Given the description of an element on the screen output the (x, y) to click on. 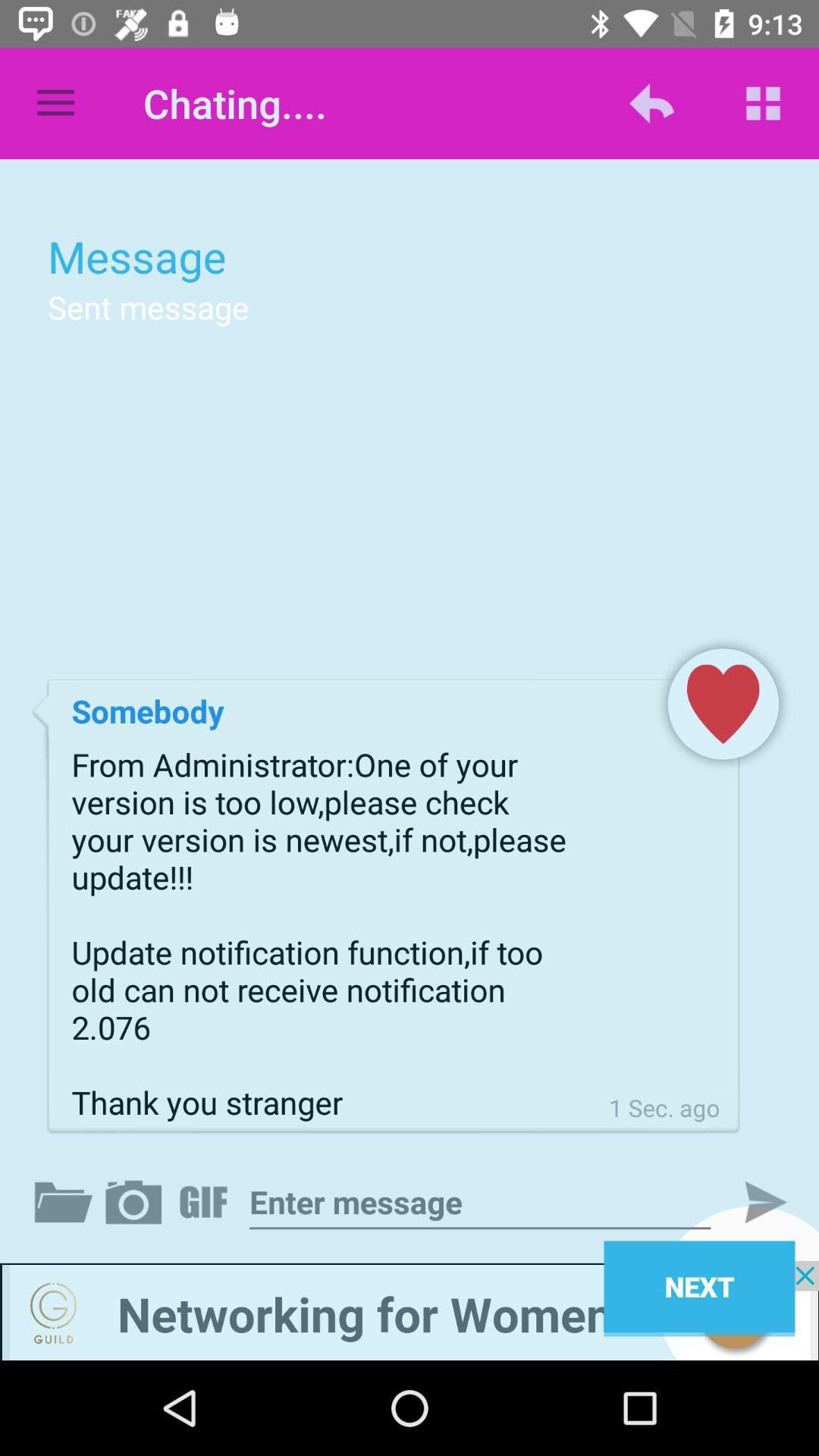
select networking advertisement (409, 1310)
